Given the description of an element on the screen output the (x, y) to click on. 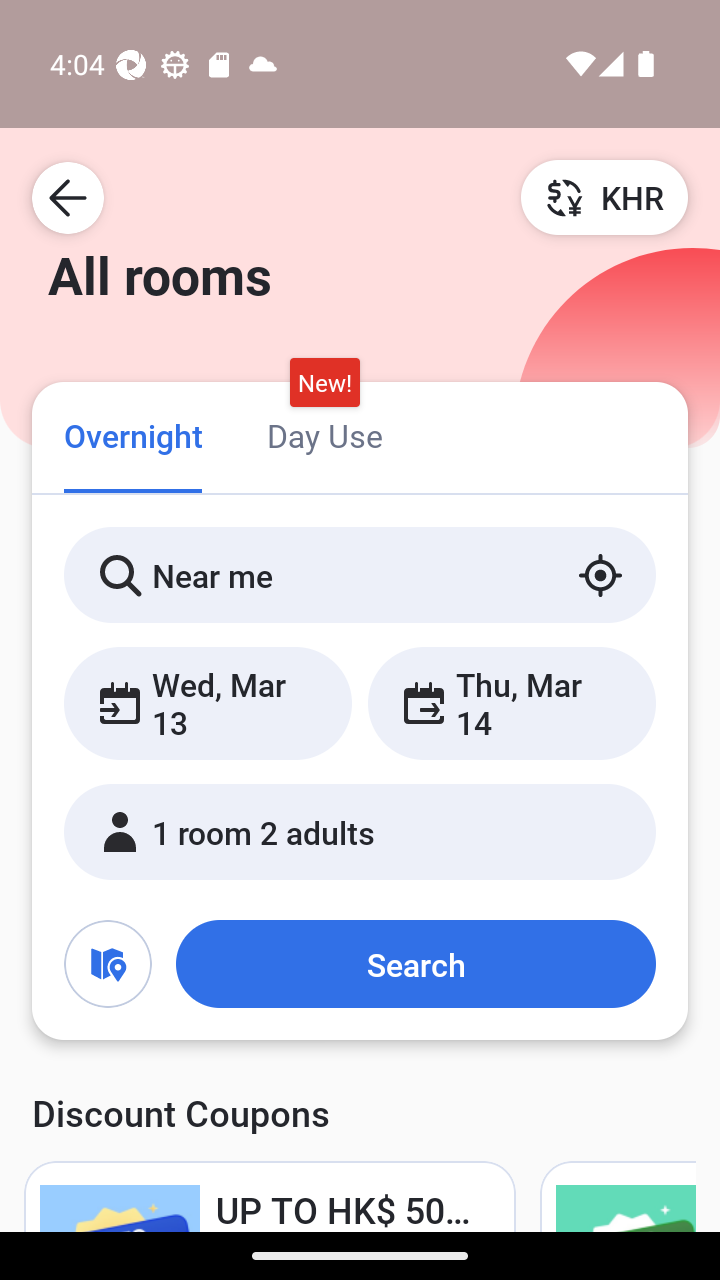
KHR (604, 197)
New! (324, 383)
Day Use (324, 434)
Near me (359, 575)
Wed, Mar 13 (208, 703)
Thu, Mar 14 (511, 703)
1 room 2 adults (359, 831)
Search (415, 964)
